Given the description of an element on the screen output the (x, y) to click on. 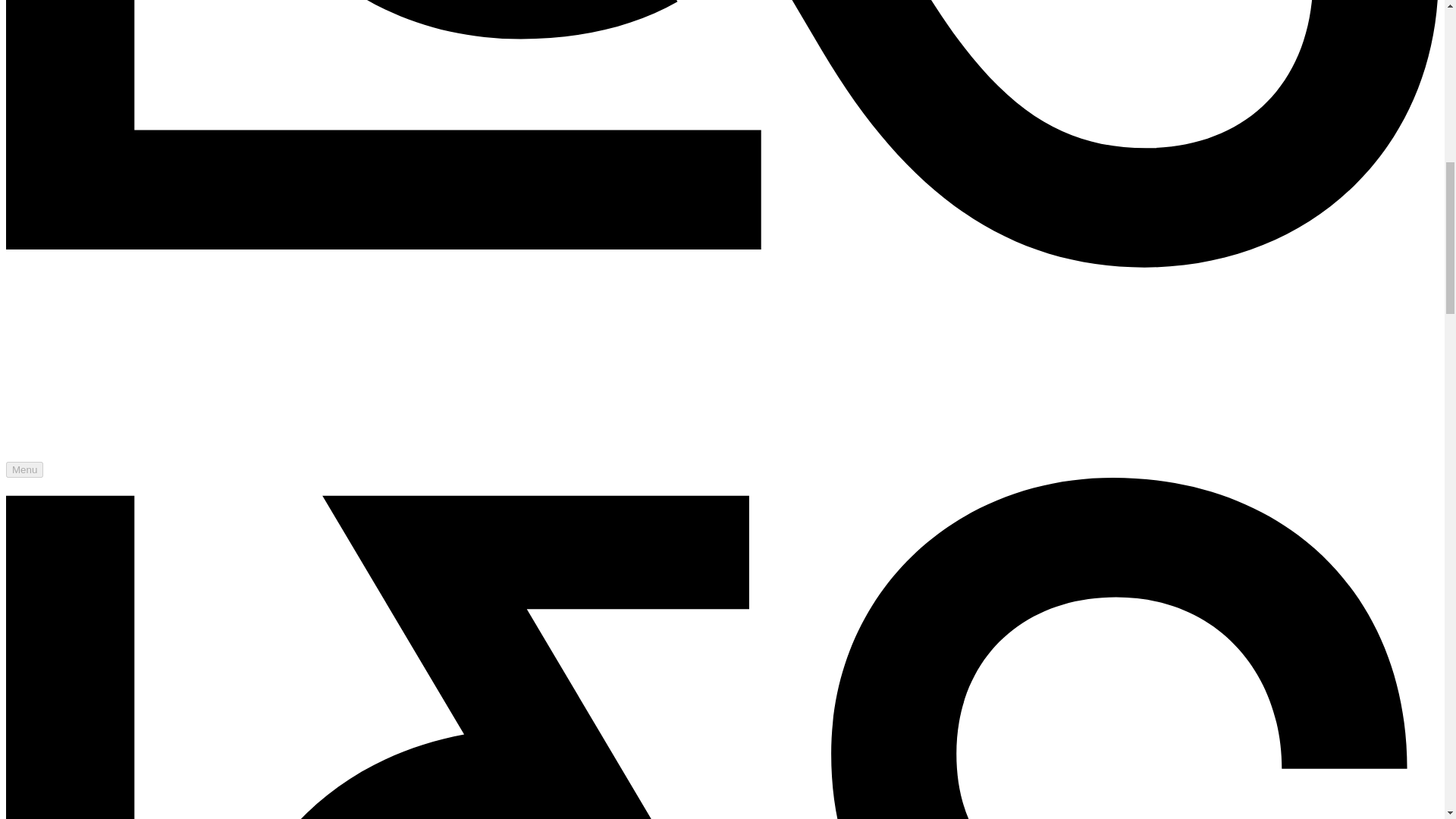
Menu (24, 469)
